Given the description of an element on the screen output the (x, y) to click on. 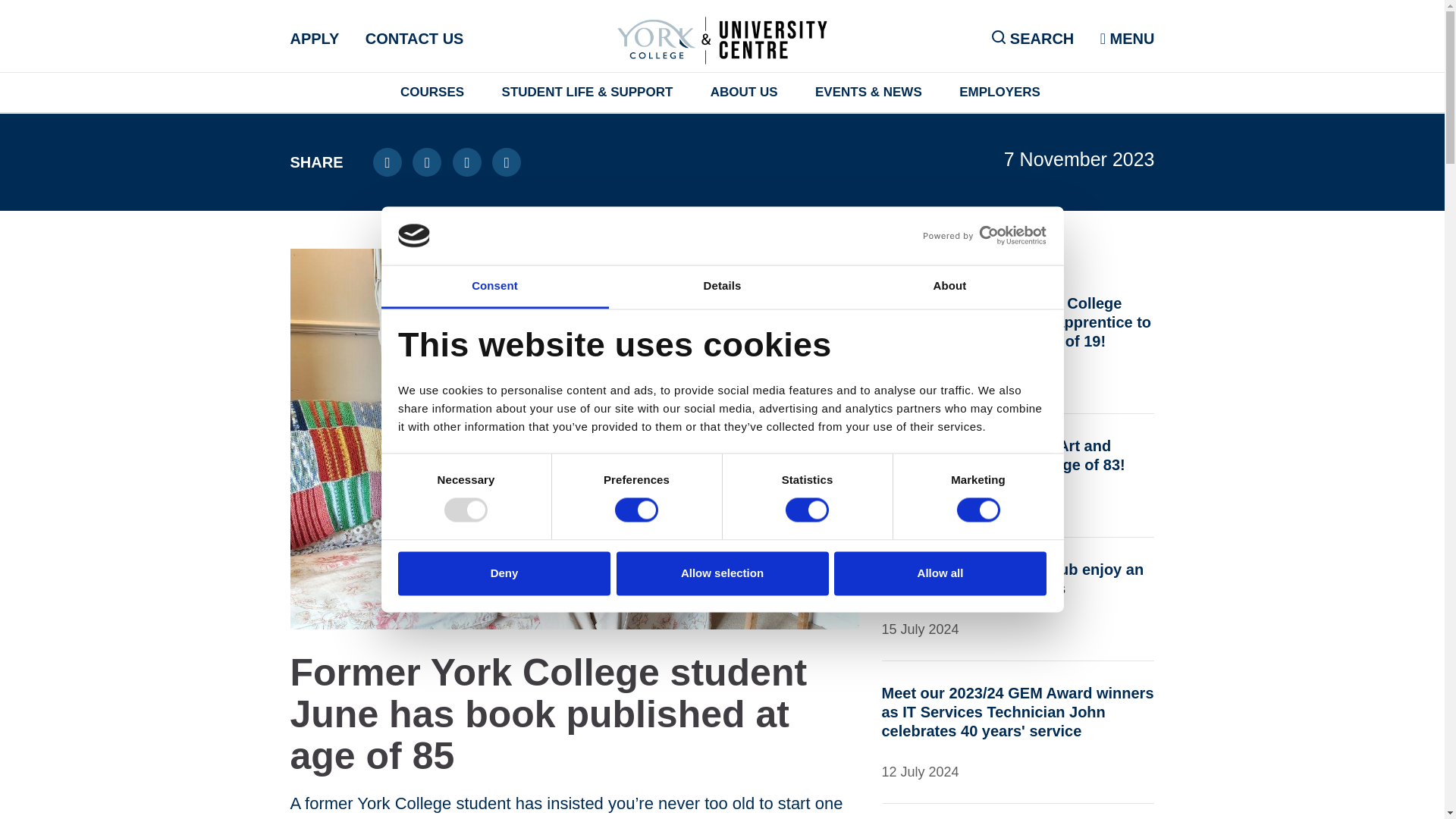
About (948, 286)
Consent (494, 286)
Details (721, 286)
Courses (432, 92)
Home (722, 37)
